Given the description of an element on the screen output the (x, y) to click on. 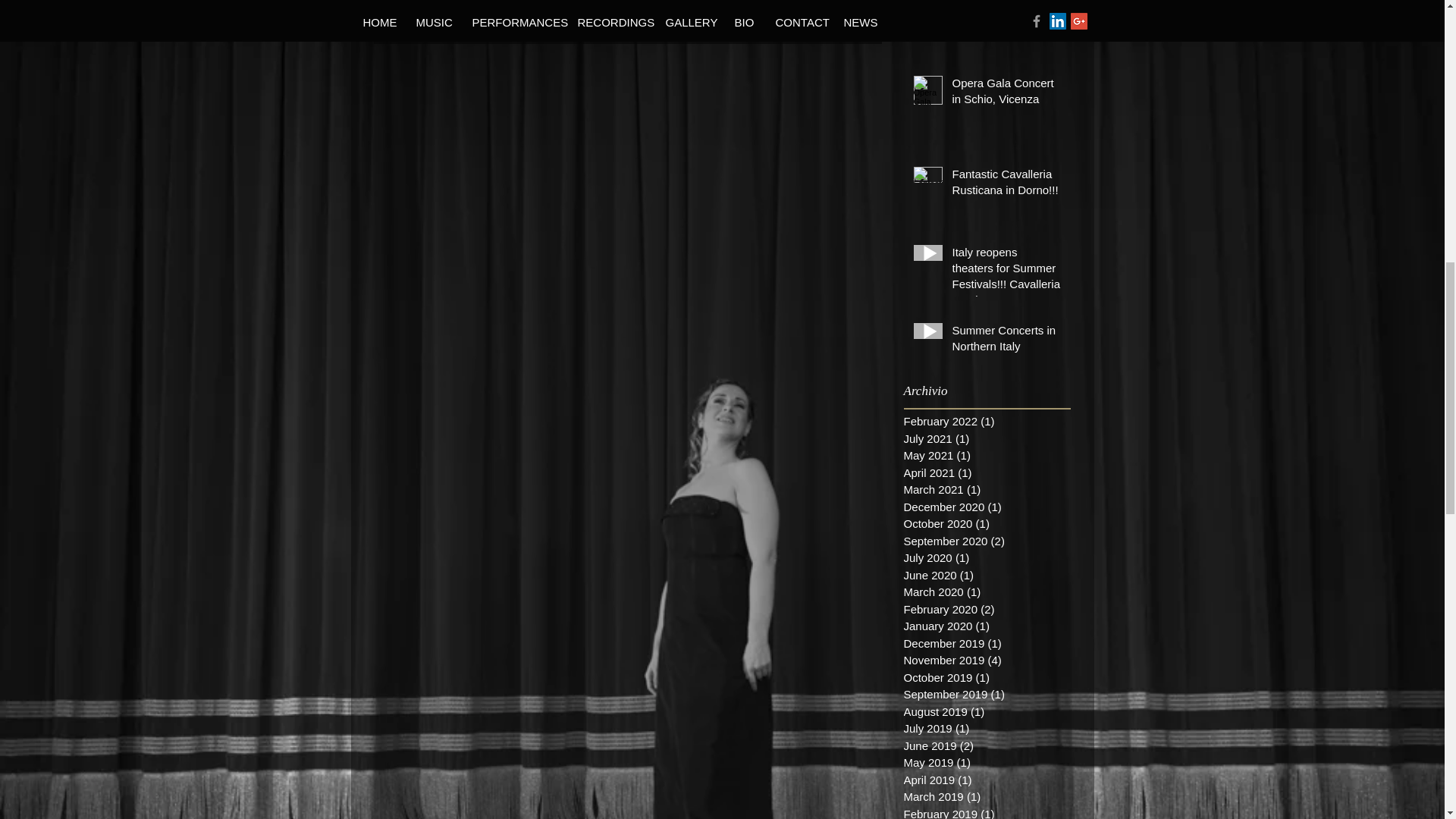
Christmas Concerts in streaming!! (1006, 11)
Fantastic Cavalleria Rusticana in Dorno!!! (1006, 184)
Summer Concerts in Northern Italy (1006, 341)
Opera Gala Concert in Schio, Vicenza (1006, 94)
